Given the description of an element on the screen output the (x, y) to click on. 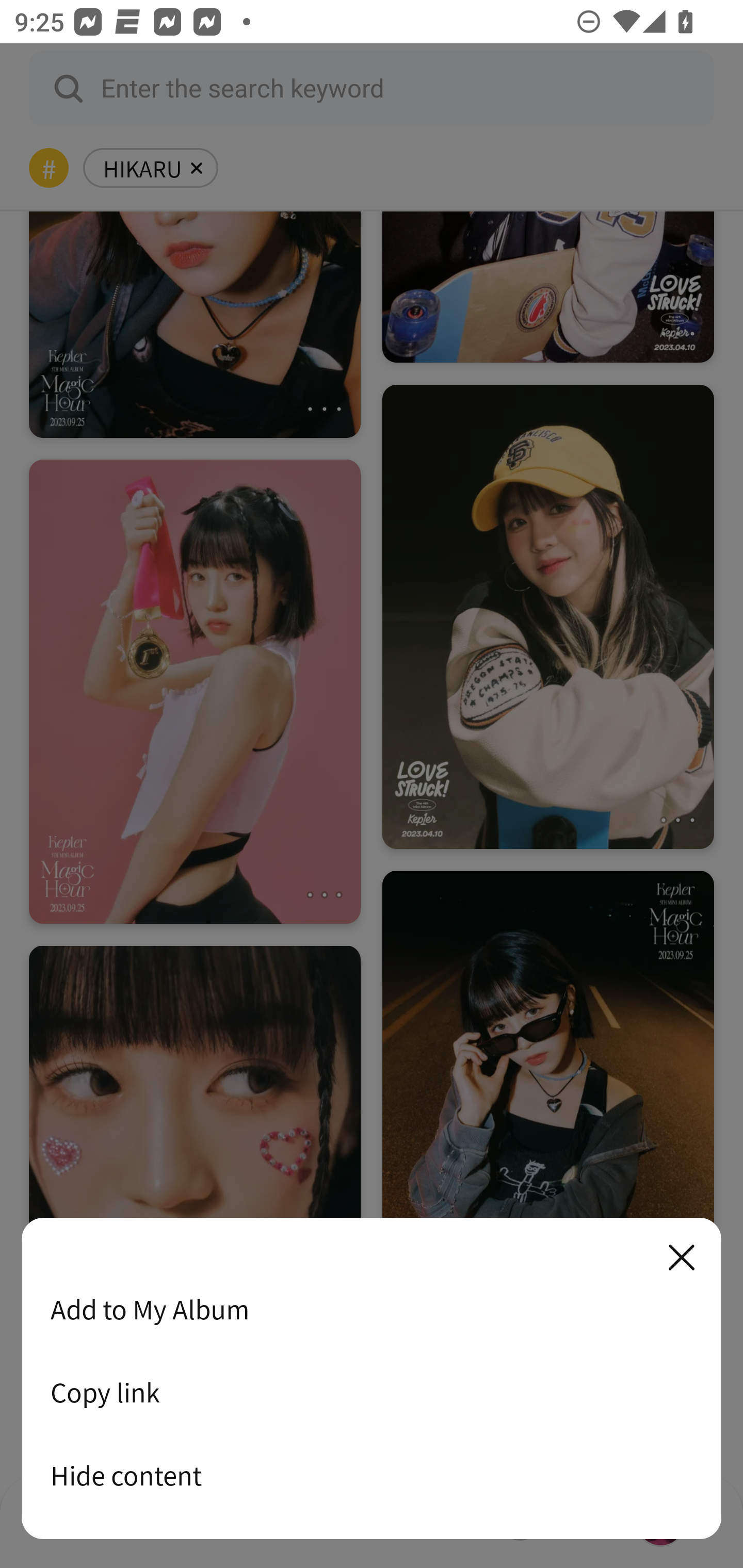
Add to My Album Copy link Hide content (371, 1378)
Add to My Album (371, 1308)
Copy link (371, 1391)
